Given the description of an element on the screen output the (x, y) to click on. 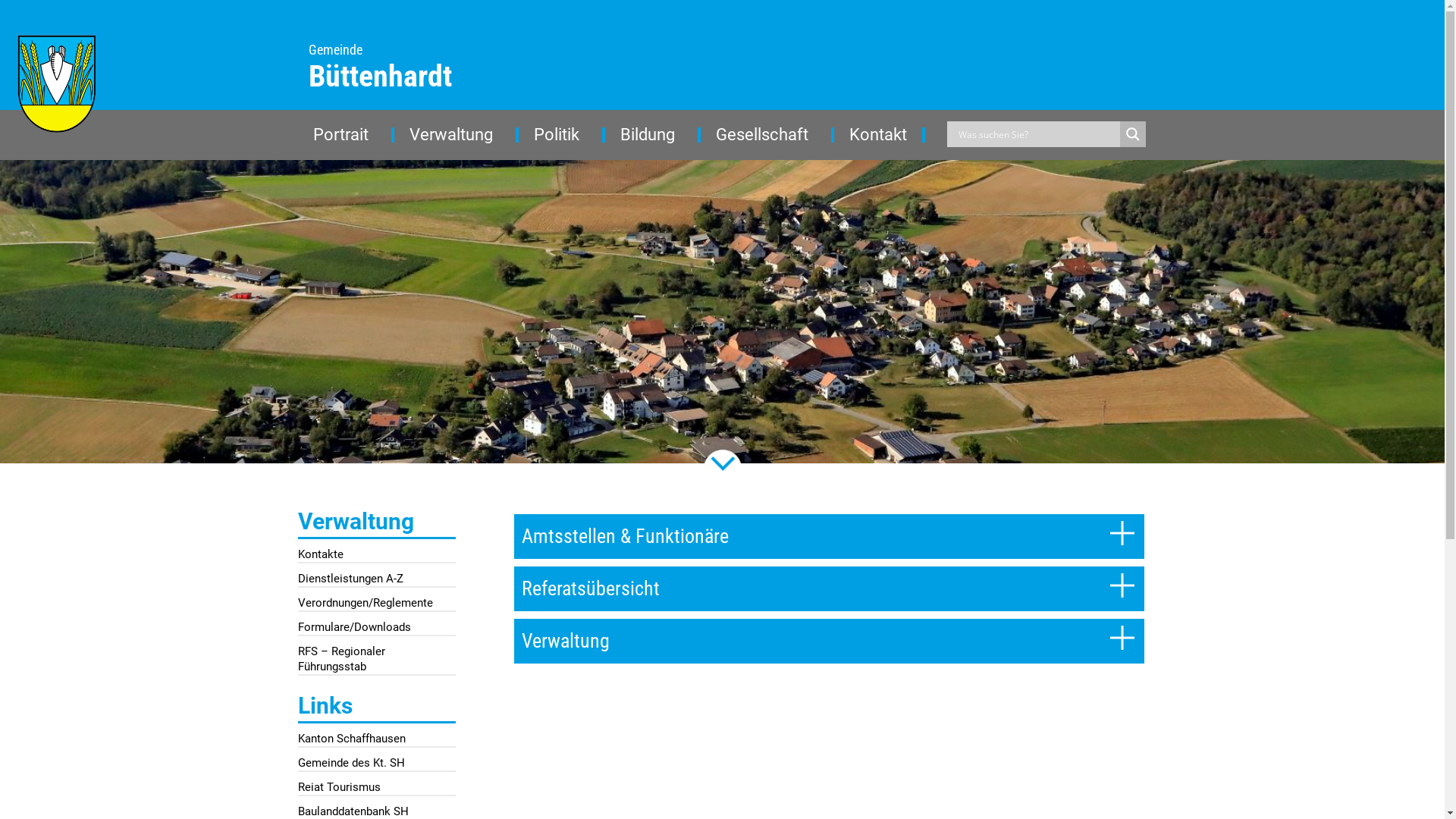
Bildung Element type: text (652, 134)
Kontakt Element type: text (879, 134)
Gesellschaft Element type: text (767, 134)
Verwaltung Element type: text (376, 526)
Gemeinde des Kt. SH Element type: text (376, 763)
Links Element type: text (376, 710)
Portrait Element type: text (345, 134)
Kanton Schaffhausen Element type: text (376, 739)
Verwaltung Element type: text (456, 134)
Formulare/Downloads Element type: text (376, 627)
Verordnungen/Reglemente Element type: text (376, 603)
Kontakte Element type: text (376, 554)
Reiat Tourismus Element type: text (376, 787)
Dienstleistungen A-Z Element type: text (376, 579)
Politik Element type: text (561, 134)
